Given the description of an element on the screen output the (x, y) to click on. 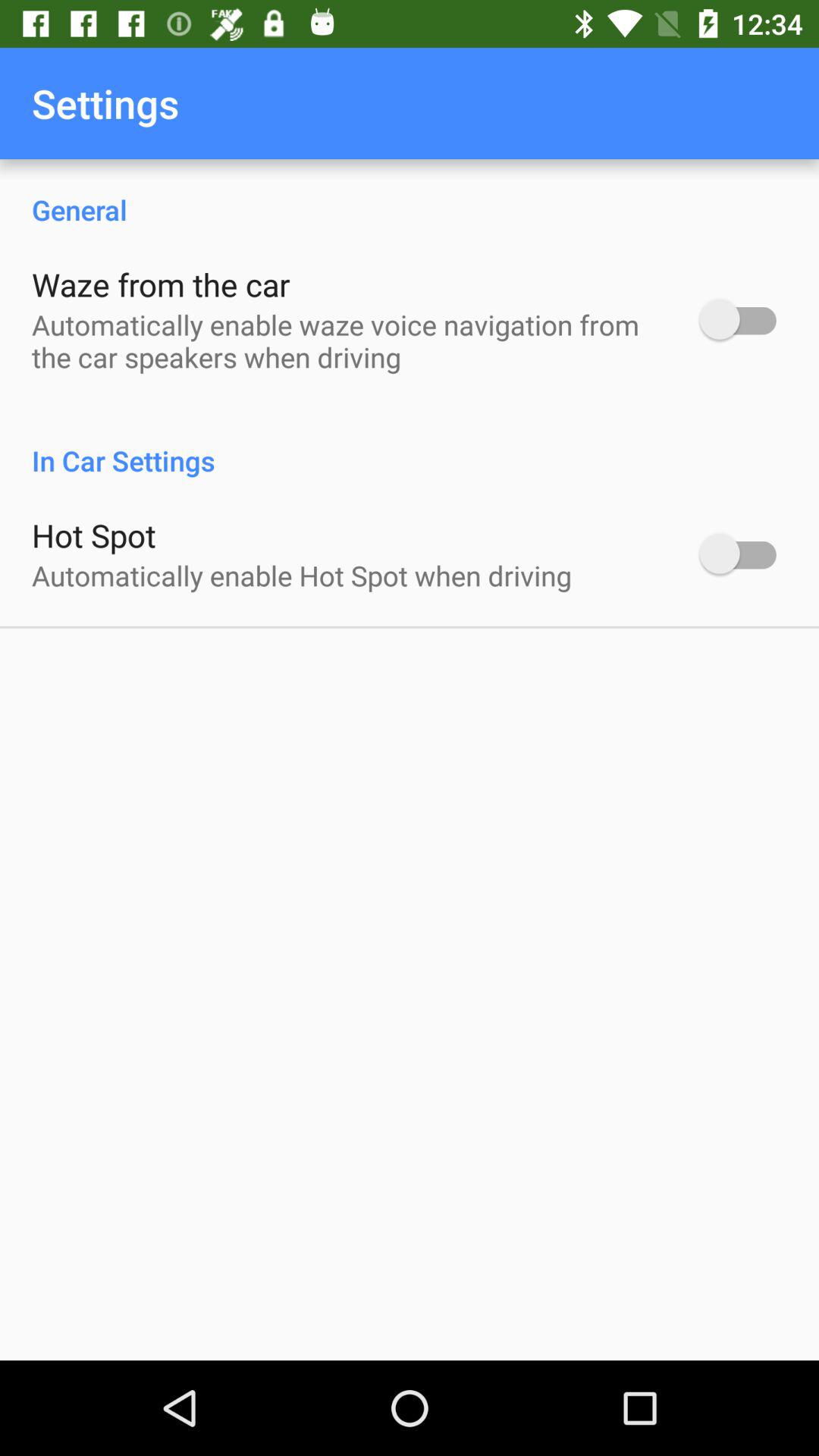
select app below settings app (409, 193)
